Given the description of an element on the screen output the (x, y) to click on. 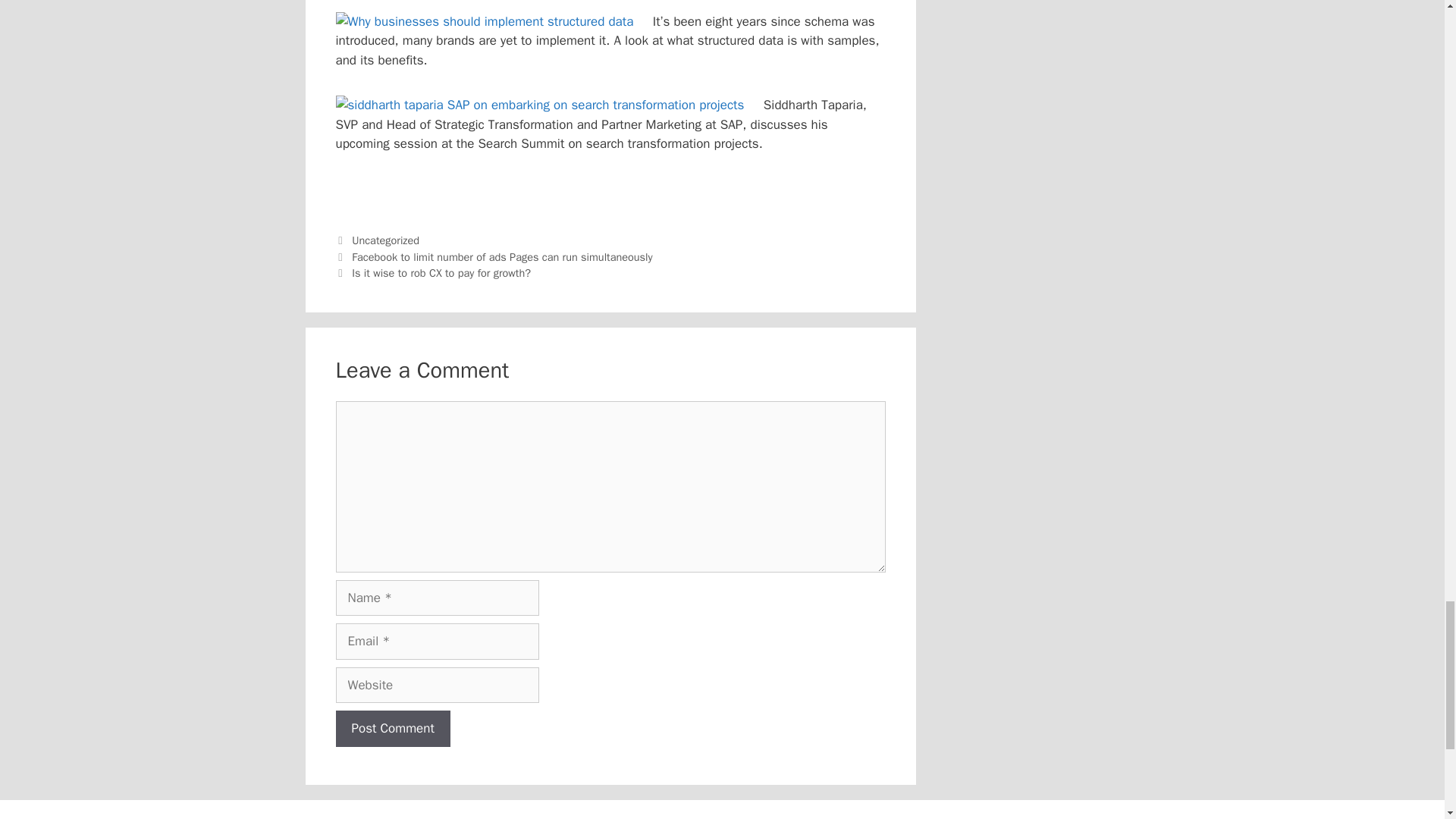
Facebook to limit number of ads Pages can run simultaneously (502, 256)
Is it wise to rob CX to pay for growth? (441, 273)
Uncategorized (385, 240)
Previous (493, 256)
Post Comment (391, 728)
Next (432, 273)
Post Comment (391, 728)
